Given the description of an element on the screen output the (x, y) to click on. 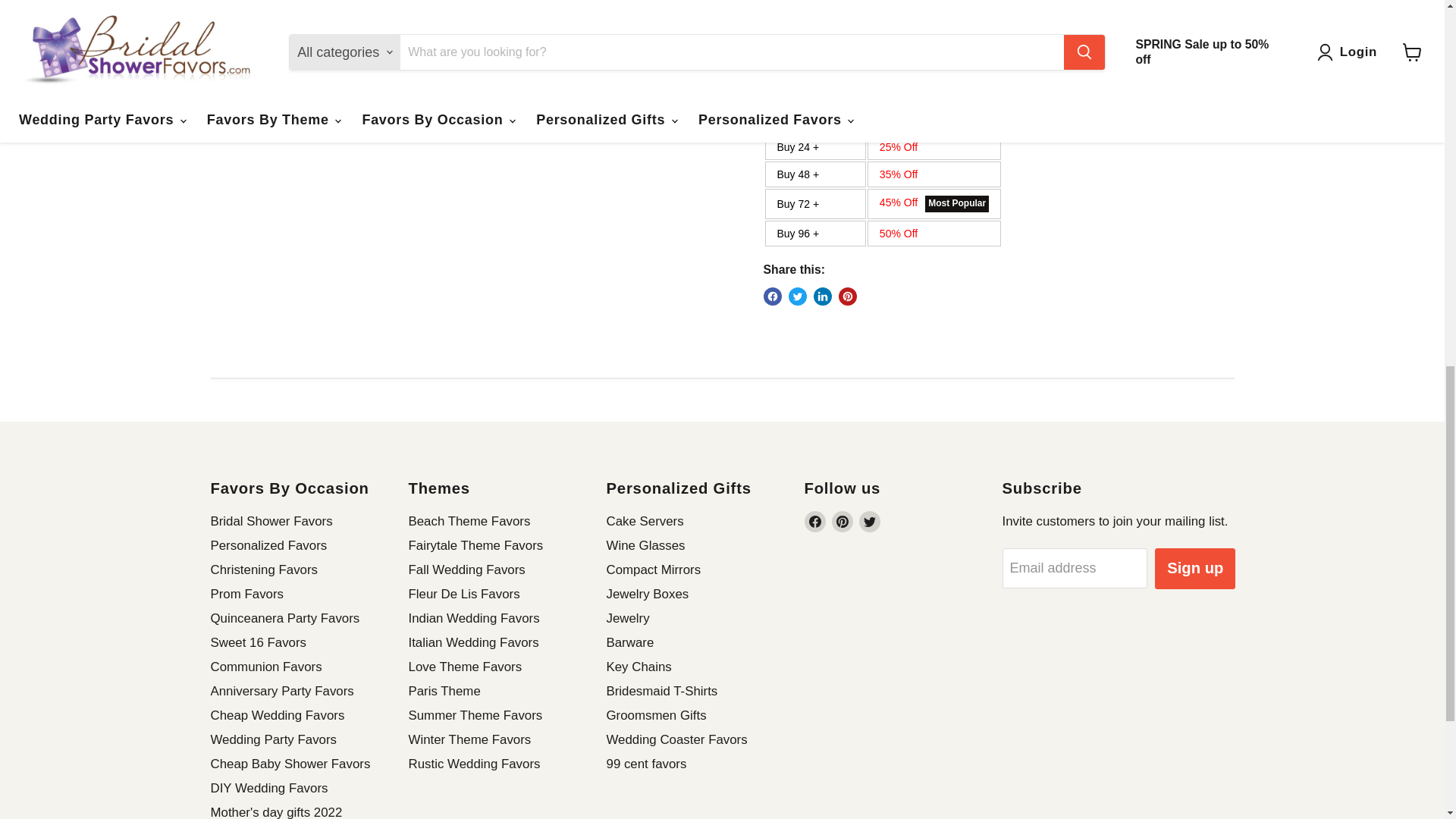
Facebook (814, 521)
Twitter (869, 521)
Pinterest (841, 521)
